Given the description of an element on the screen output the (x, y) to click on. 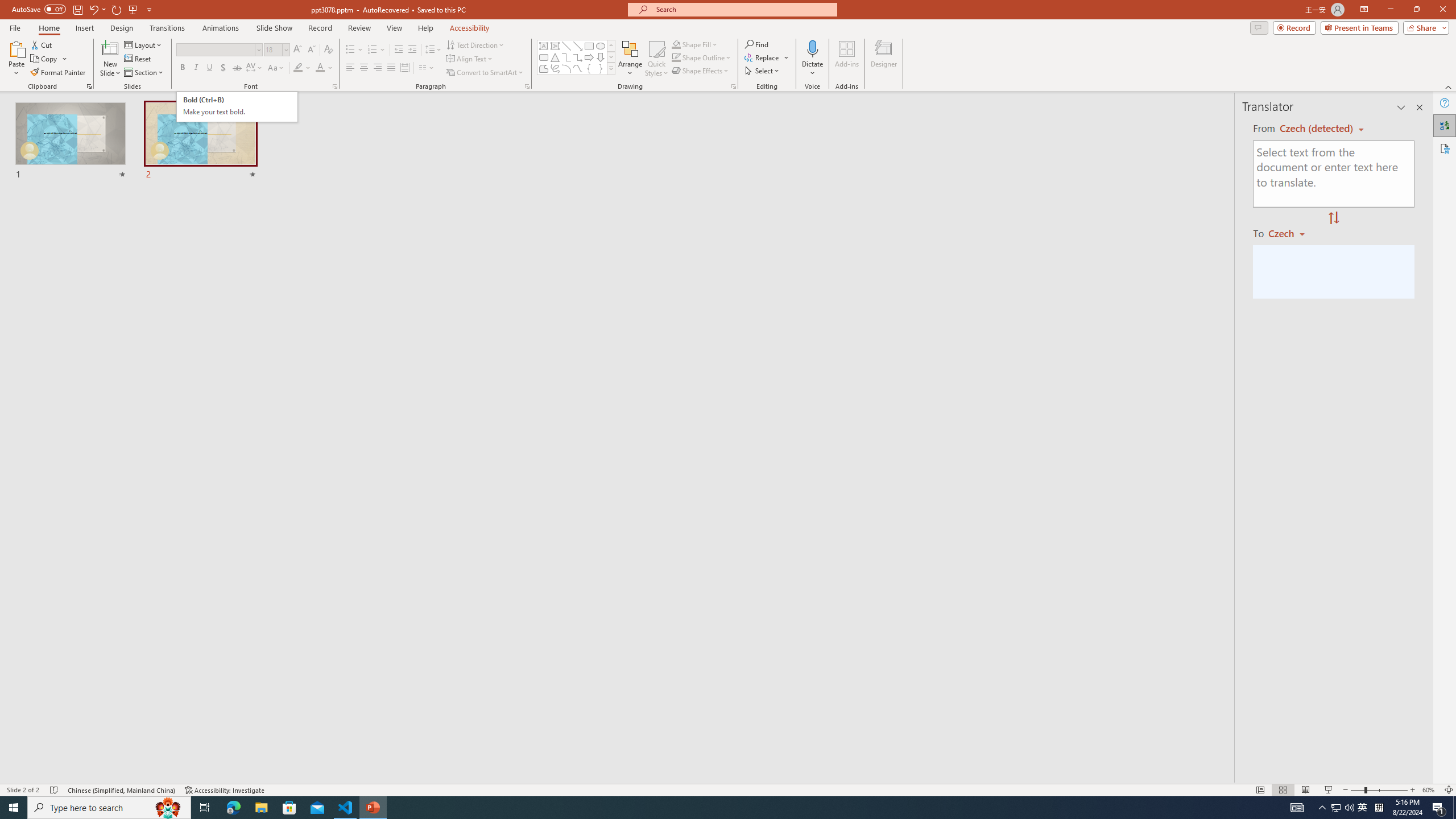
Czech (1291, 232)
Text Direction (476, 44)
Layout (143, 44)
Decrease Indent (398, 49)
Clear Formatting (327, 49)
Decrease Font Size (310, 49)
Italic (195, 67)
Shape Fill Dark Green, Accent 2 (675, 44)
